Given the description of an element on the screen output the (x, y) to click on. 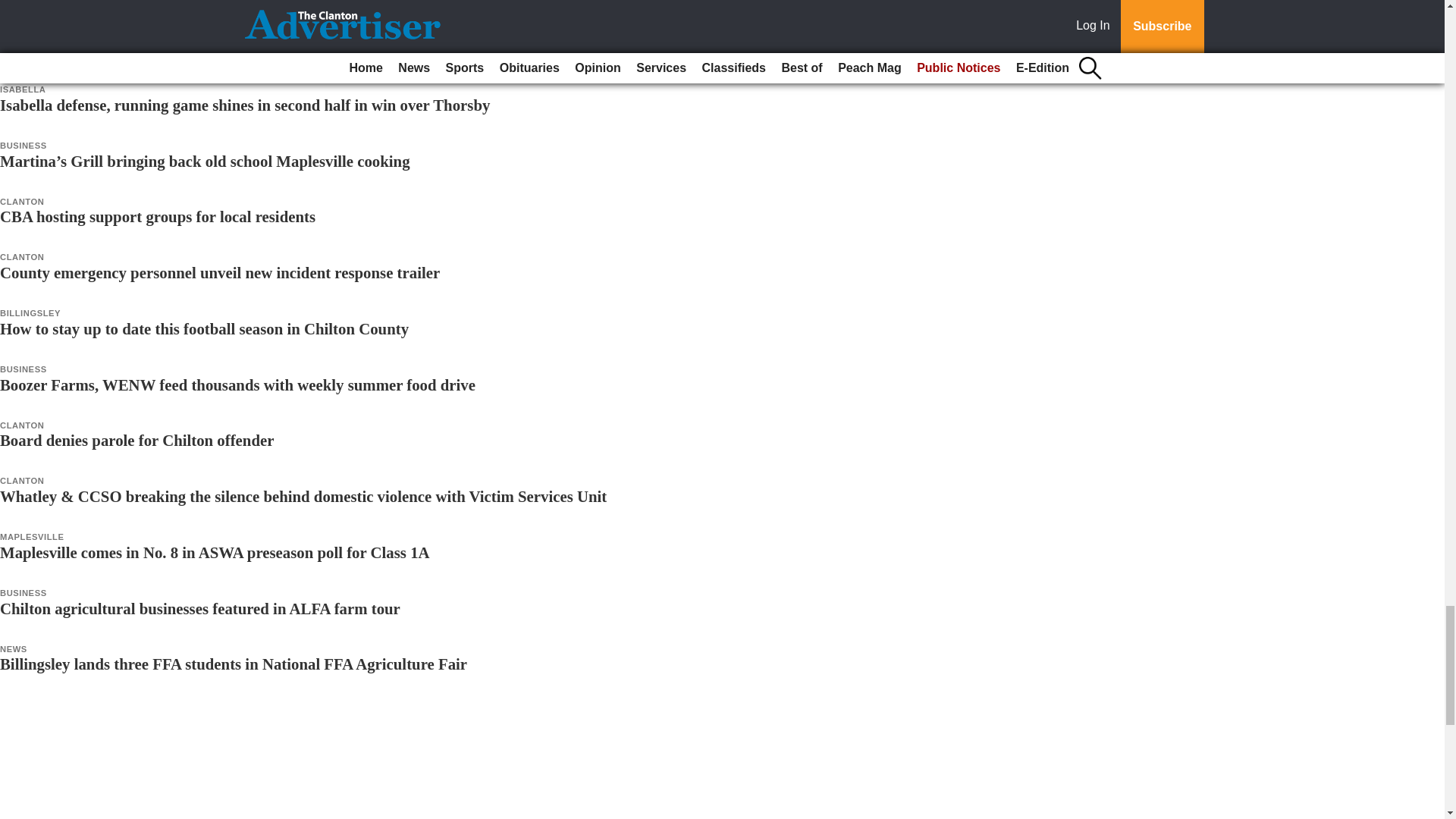
CBA hosting support groups for local residents (157, 216)
CAEC, Central Access moves to new office in Clanton (181, 48)
